Given the description of an element on the screen output the (x, y) to click on. 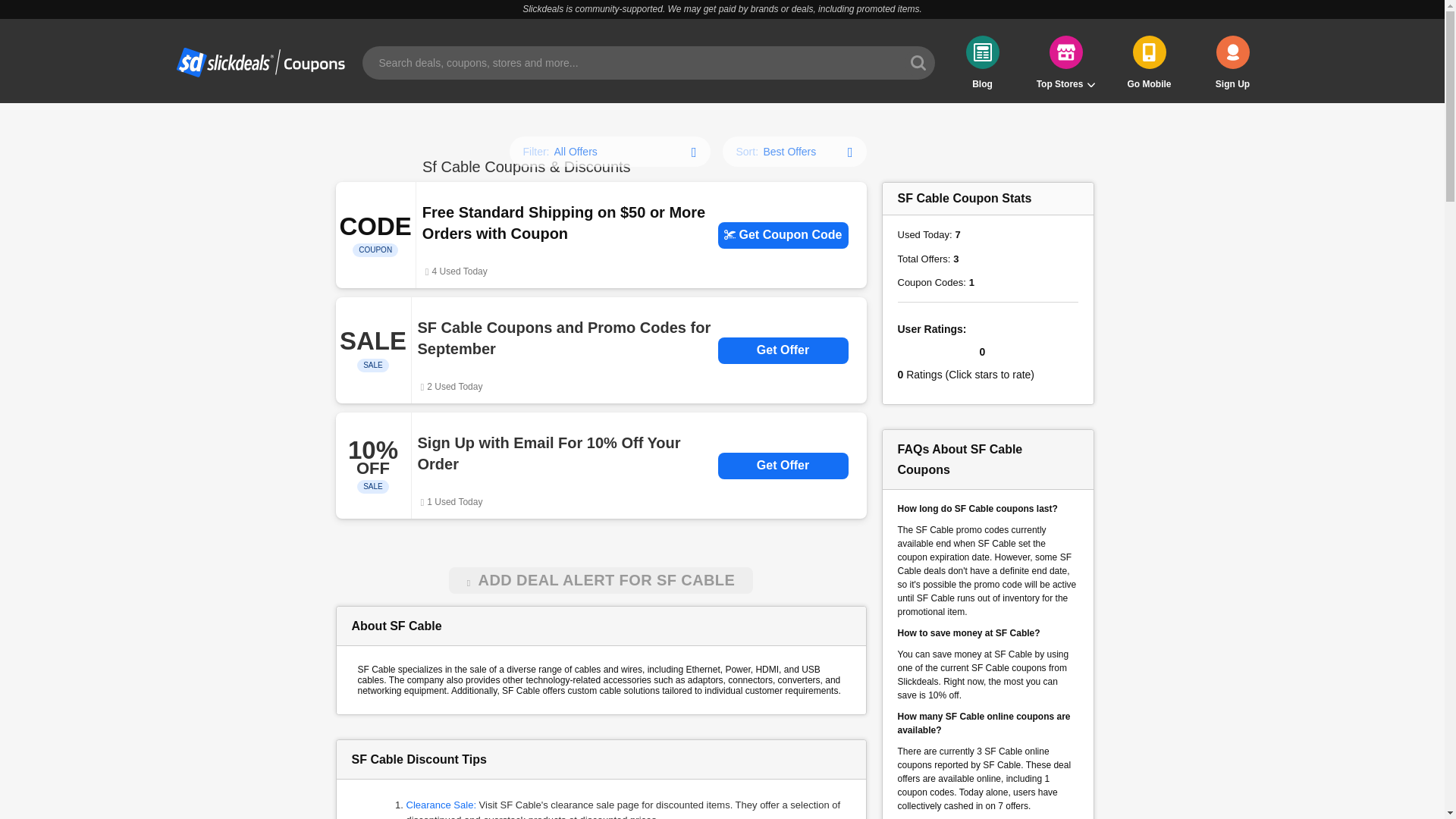
ADD DEAL ALERT FOR SF CABLE (600, 580)
Clearance Sale: (441, 804)
